Given the description of an element on the screen output the (x, y) to click on. 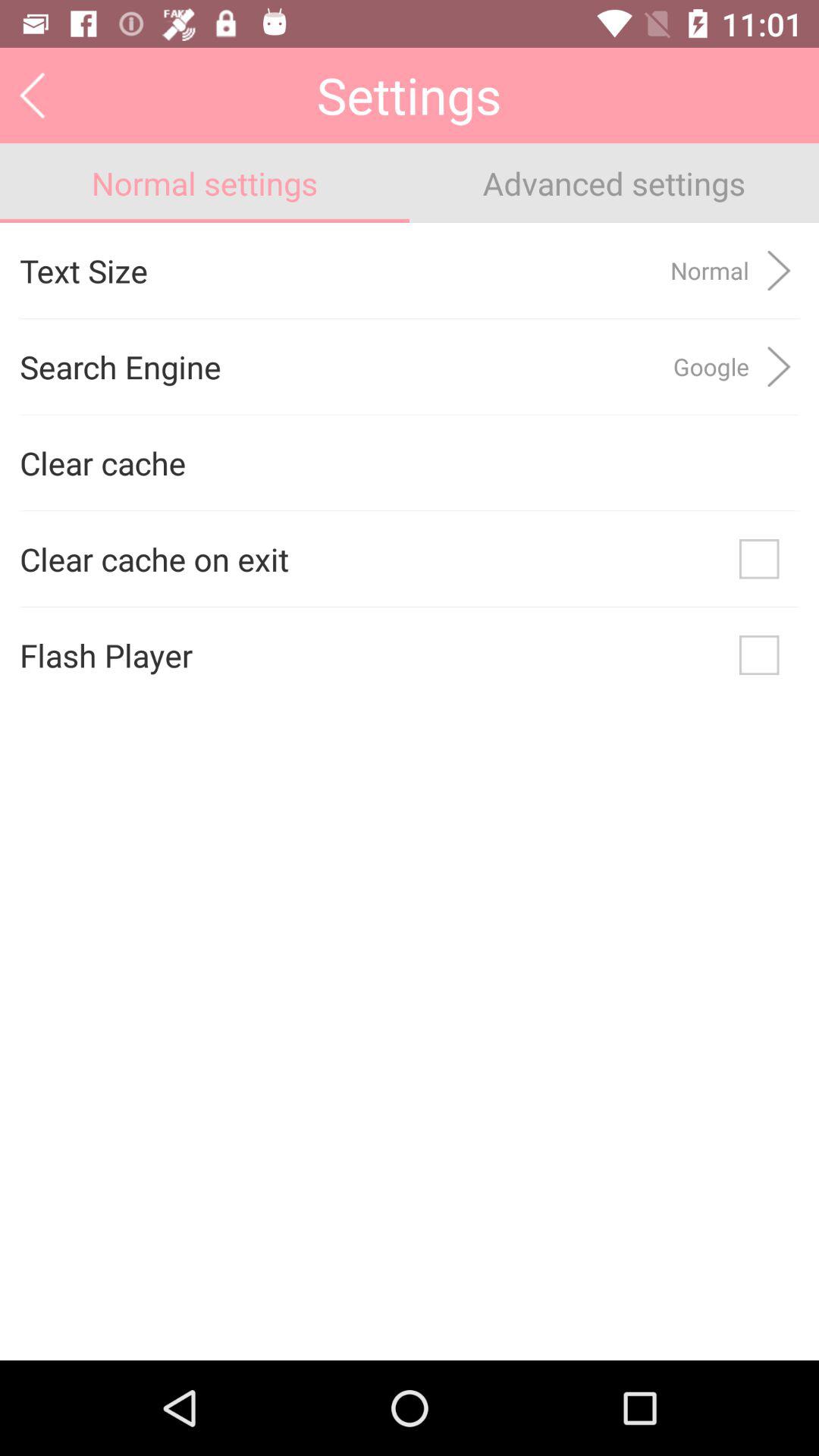
allow flash player (759, 655)
